Given the description of an element on the screen output the (x, y) to click on. 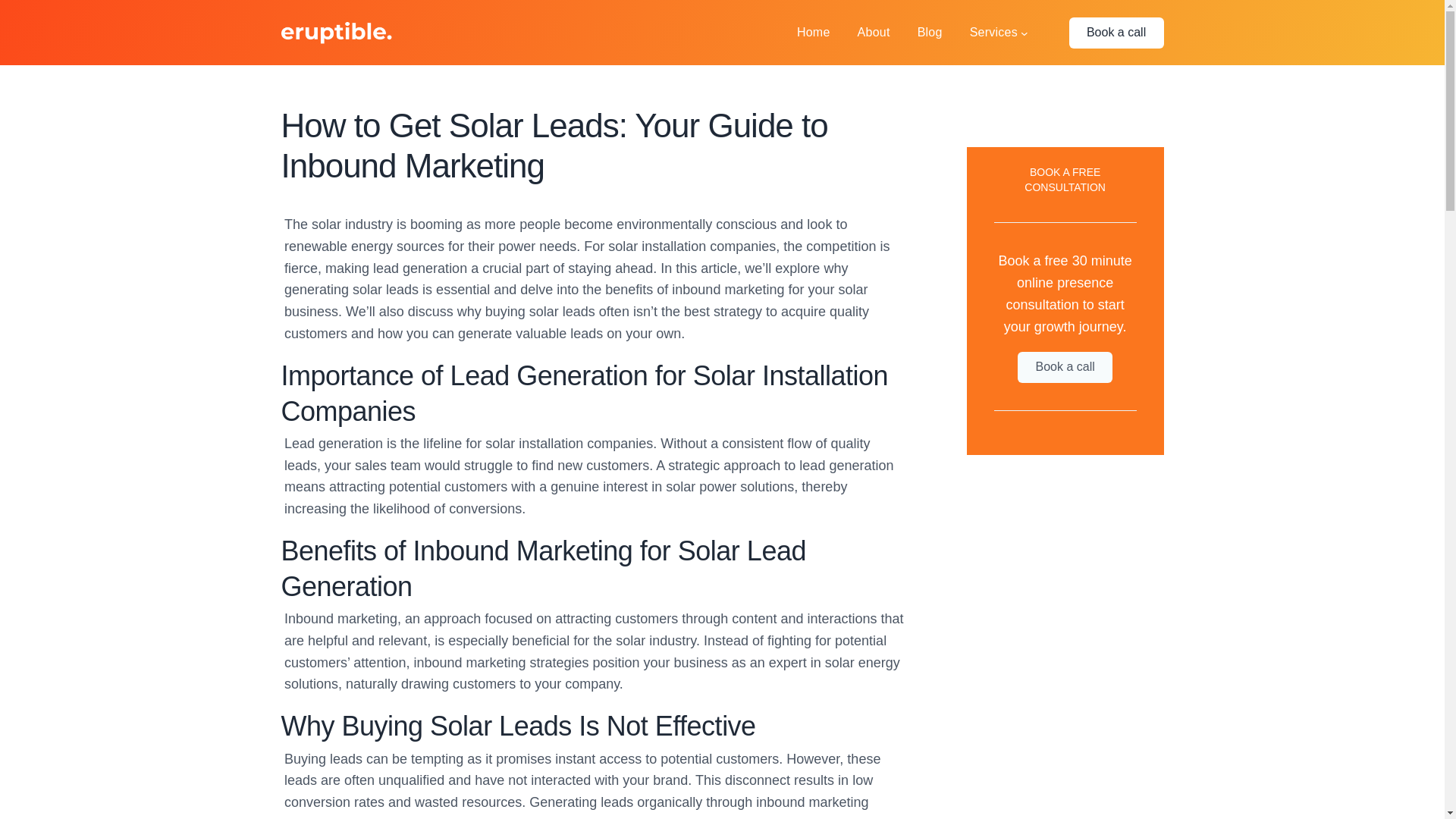
About (873, 32)
Book a call (1064, 367)
Services (993, 32)
Home (812, 32)
Book a call (1115, 31)
Blog (929, 32)
